Given the description of an element on the screen output the (x, y) to click on. 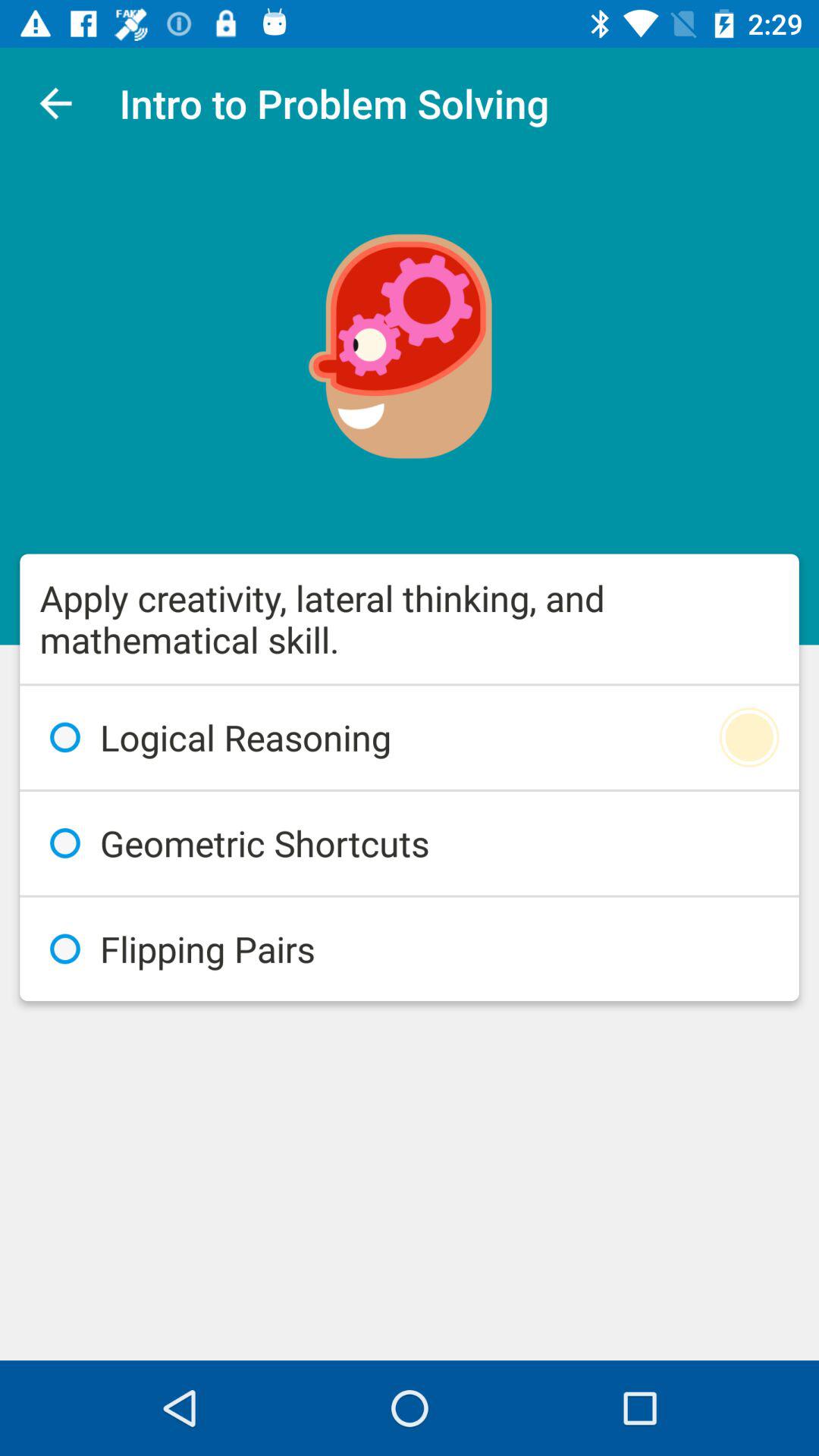
select logical reasoning icon (409, 737)
